Given the description of an element on the screen output the (x, y) to click on. 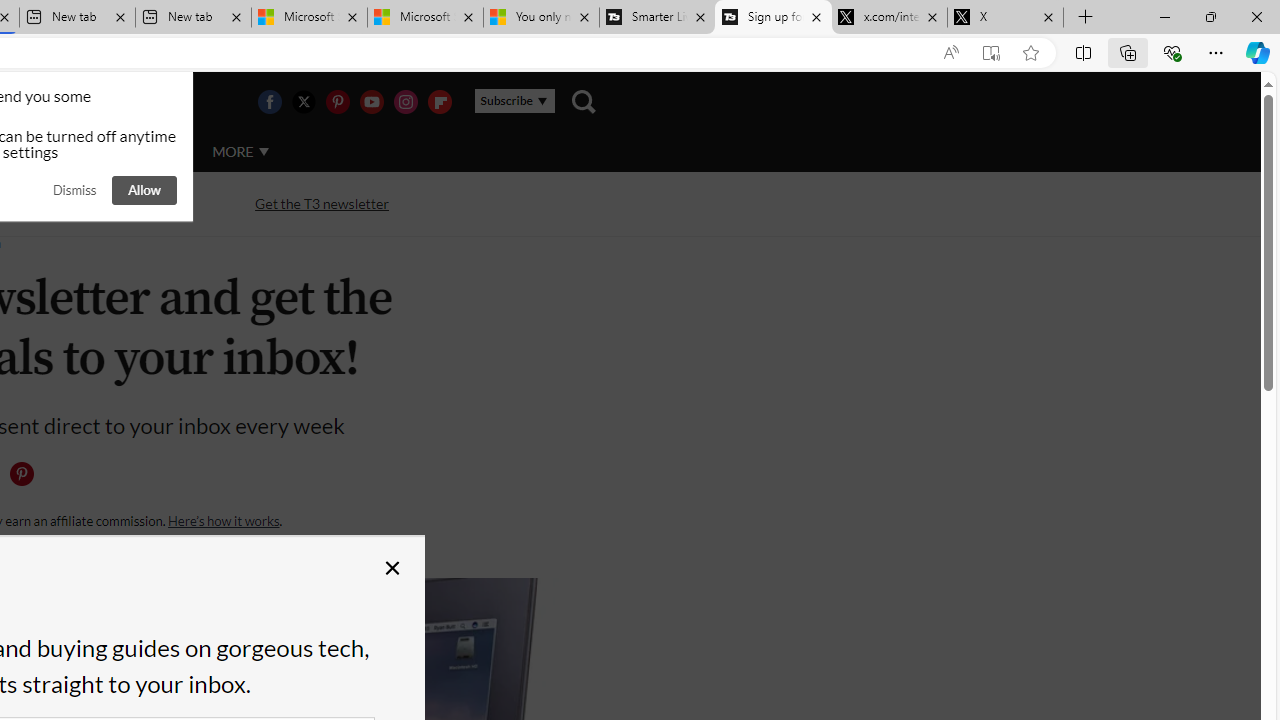
Smarter Living | T3 (657, 17)
Get the T3 newsletter (322, 202)
Class: navigation__search (583, 101)
Class: social__item (25, 477)
AUTO (153, 151)
Allow (144, 190)
Visit us on Facebook (269, 101)
LUXURY (66, 151)
Class: svg-arrow-down (264, 151)
